Given the description of an element on the screen output the (x, y) to click on. 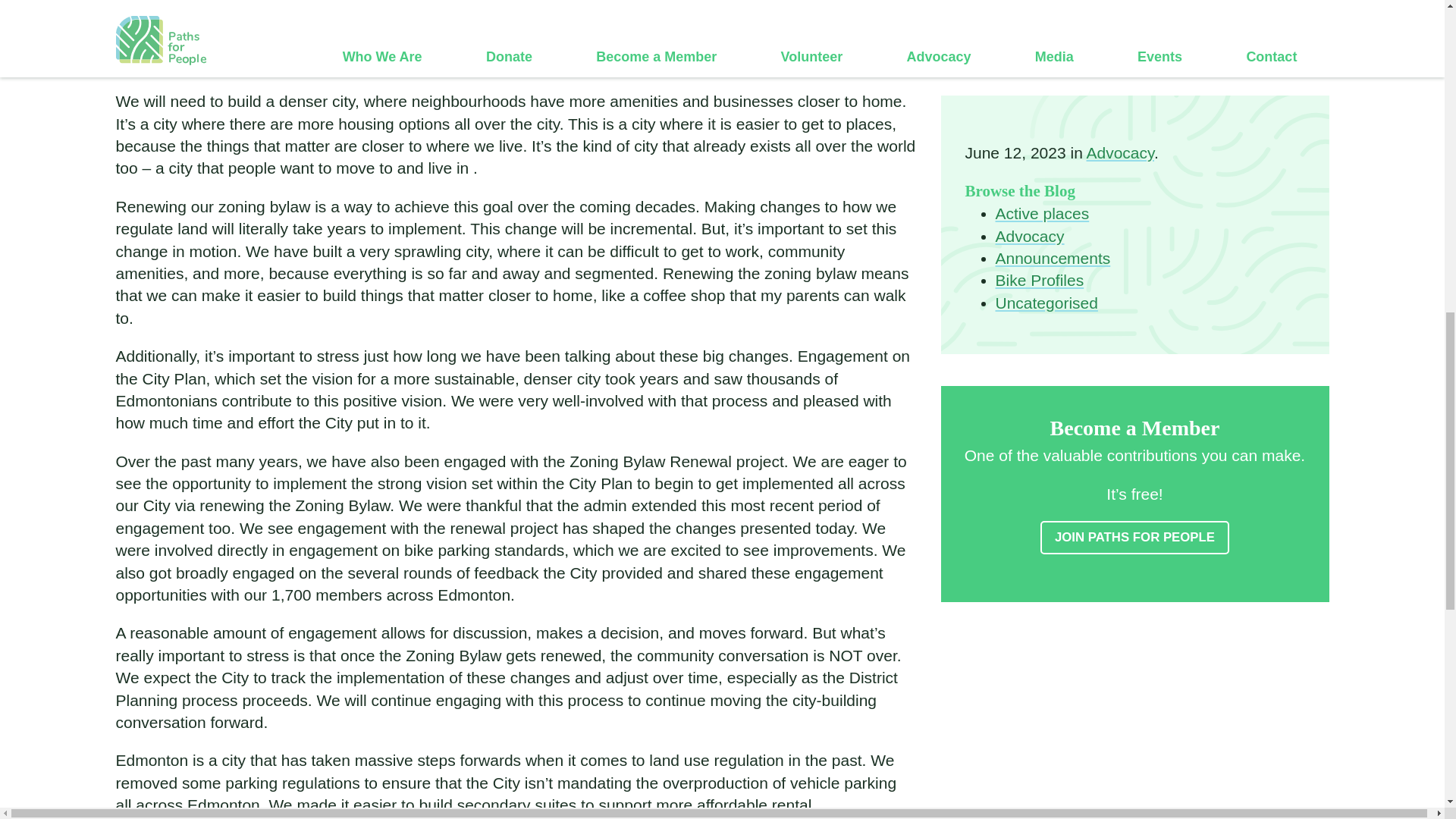
Announcements (1051, 55)
Bike Profiles (1038, 77)
Active places (1041, 10)
Advocacy (1029, 33)
Uncategorised (1045, 99)
JOIN PATHS FOR PEOPLE (1134, 335)
